Given the description of an element on the screen output the (x, y) to click on. 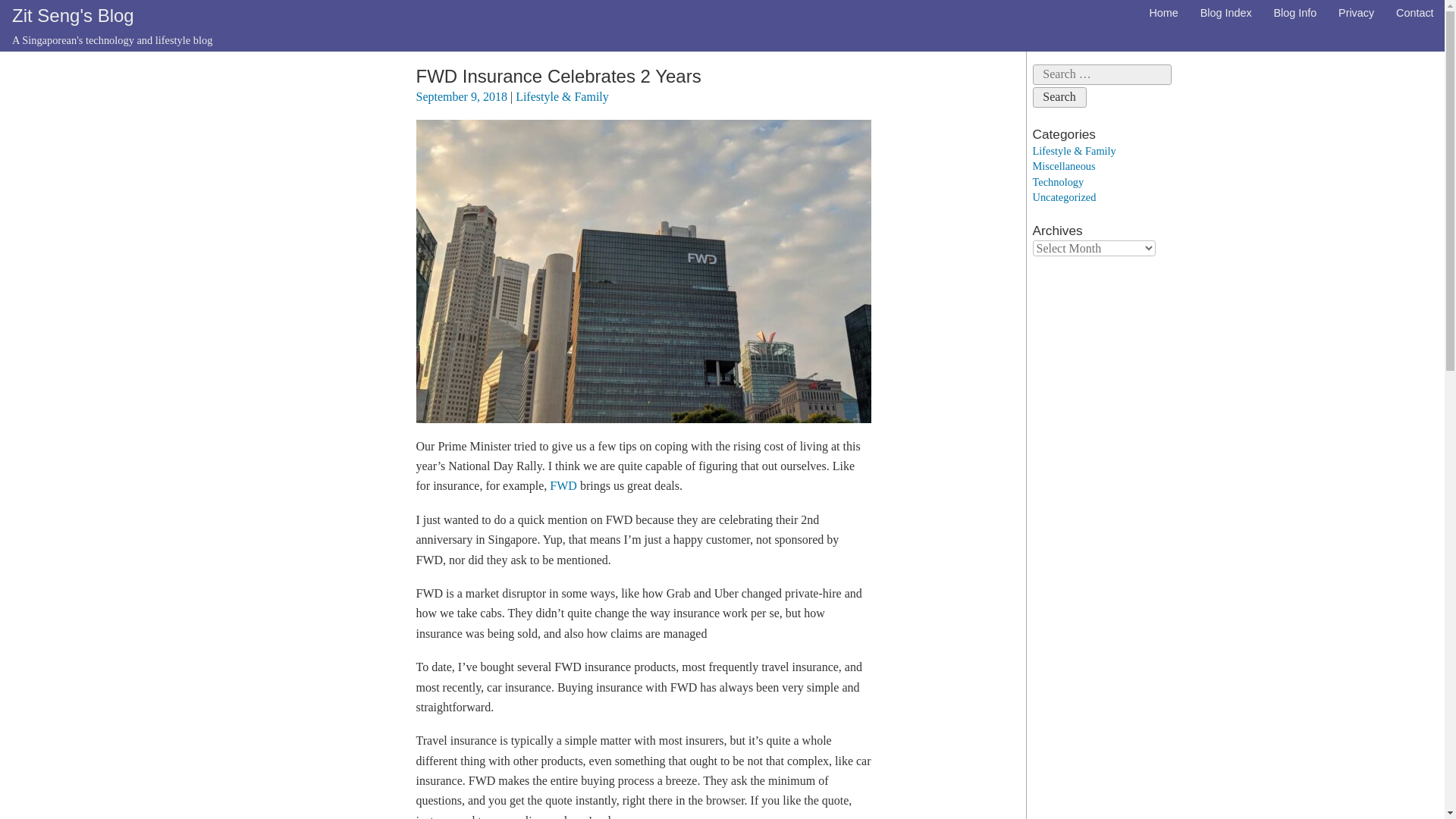
Blog Index (1225, 13)
FWD (563, 485)
Search (1059, 96)
Technology (1058, 182)
Blog Info (1294, 13)
Miscellaneous (1064, 165)
Privacy (1356, 13)
September 9, 2018 (460, 96)
Uncategorized (1064, 196)
Search (1059, 96)
